Given the description of an element on the screen output the (x, y) to click on. 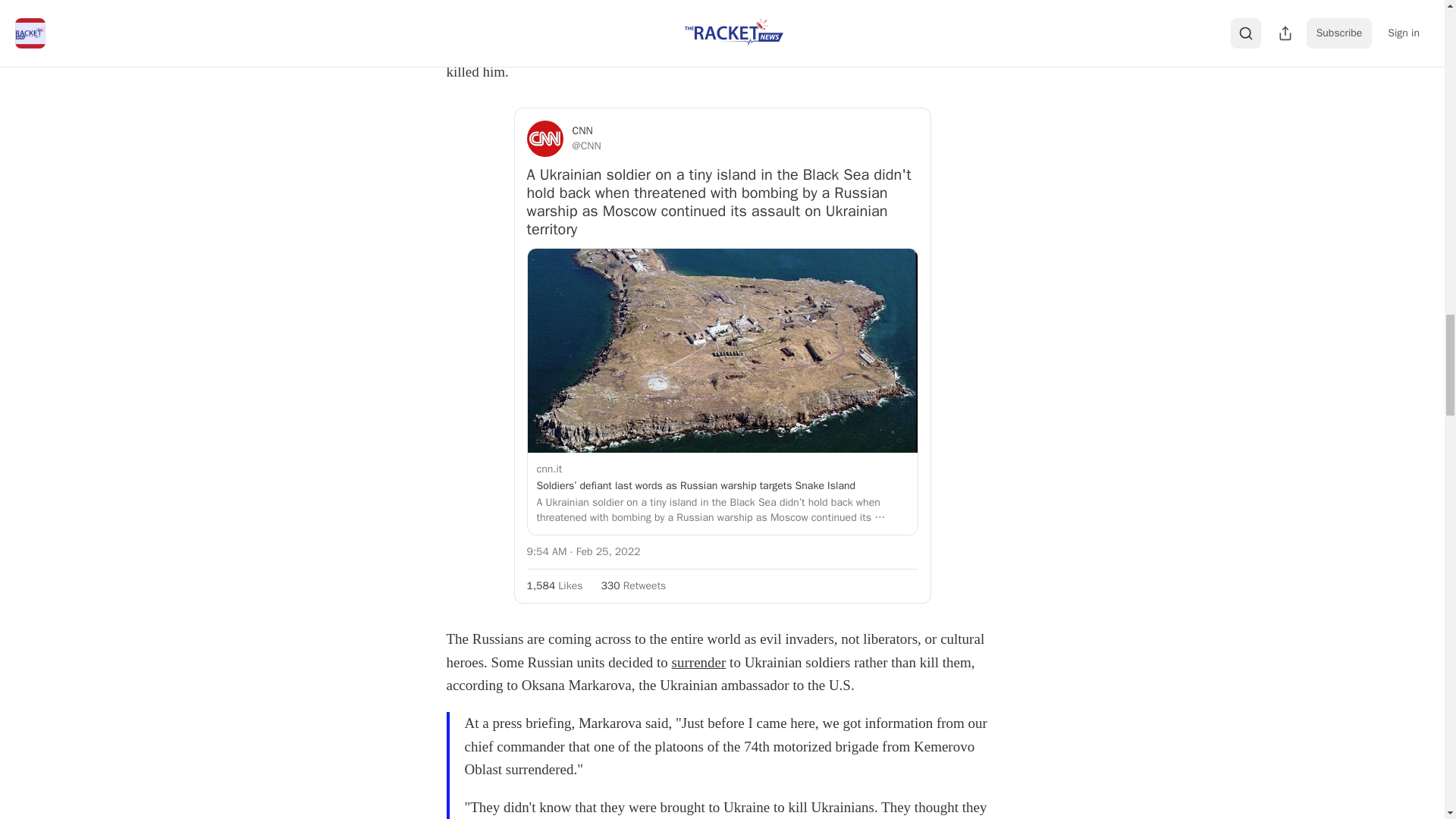
responded (824, 48)
